Given the description of an element on the screen output the (x, y) to click on. 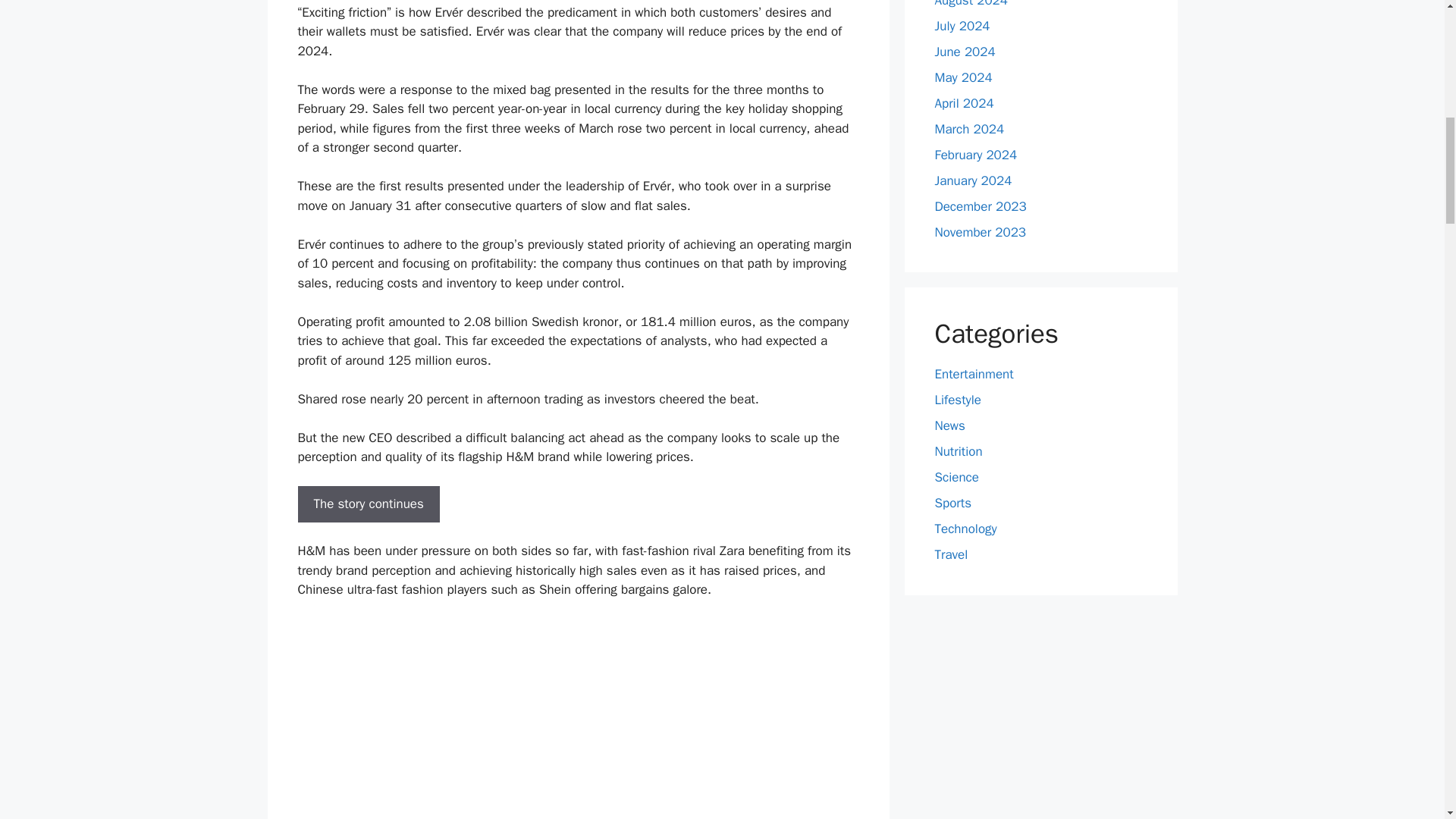
July 2024 (962, 26)
April 2024 (963, 103)
August 2024 (970, 4)
June 2024 (964, 51)
The story continues (368, 504)
May 2024 (962, 77)
